Given the description of an element on the screen output the (x, y) to click on. 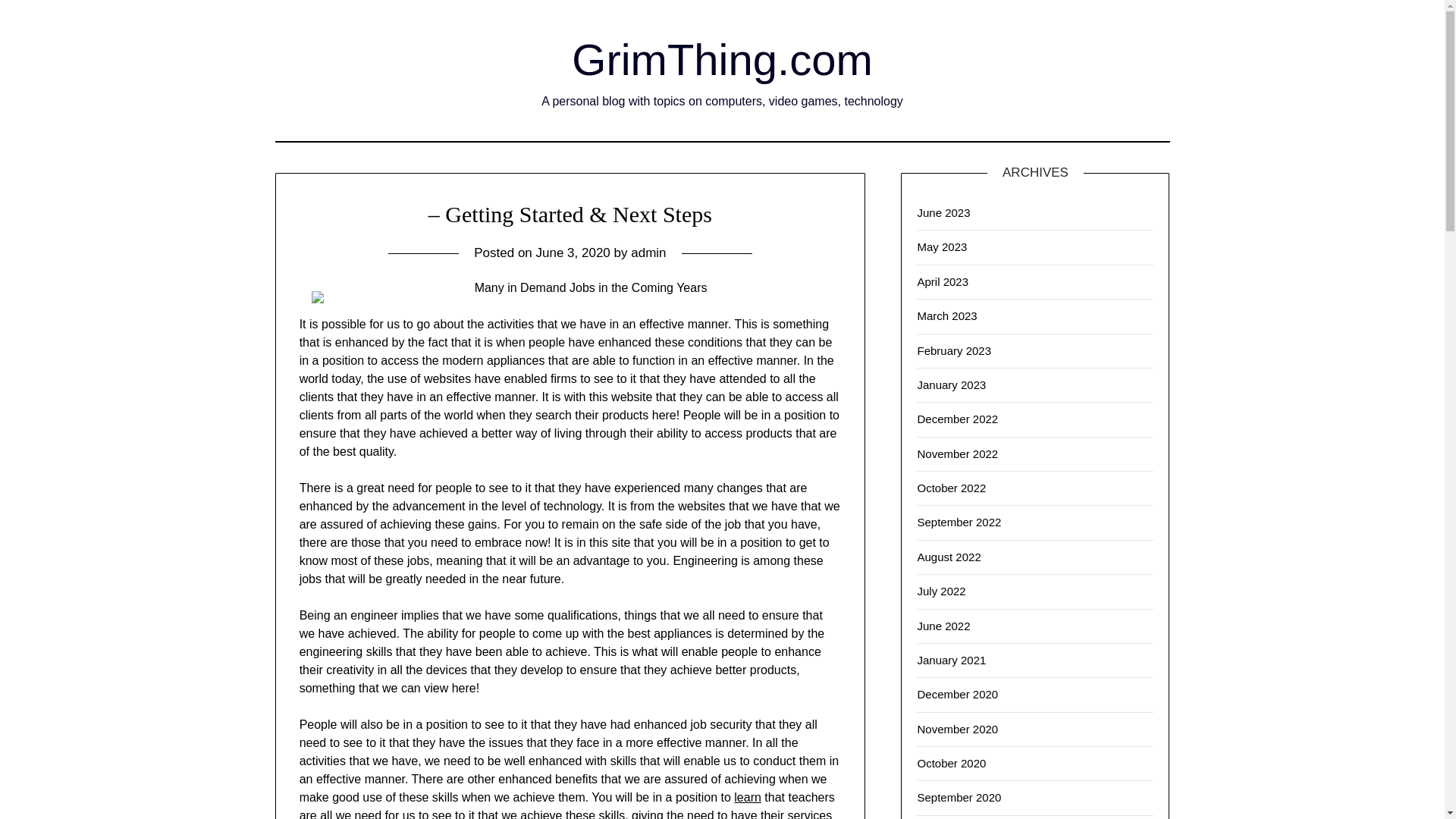
December 2020 (957, 694)
May 2023 (941, 246)
July 2022 (941, 590)
January 2021 (951, 659)
October 2020 (951, 762)
November 2020 (957, 728)
February 2023 (954, 350)
December 2022 (957, 418)
June 3, 2020 (572, 252)
September 2020 (959, 797)
June 2023 (943, 212)
June 2022 (943, 625)
April 2023 (942, 281)
October 2022 (951, 487)
September 2022 (959, 521)
